Given the description of an element on the screen output the (x, y) to click on. 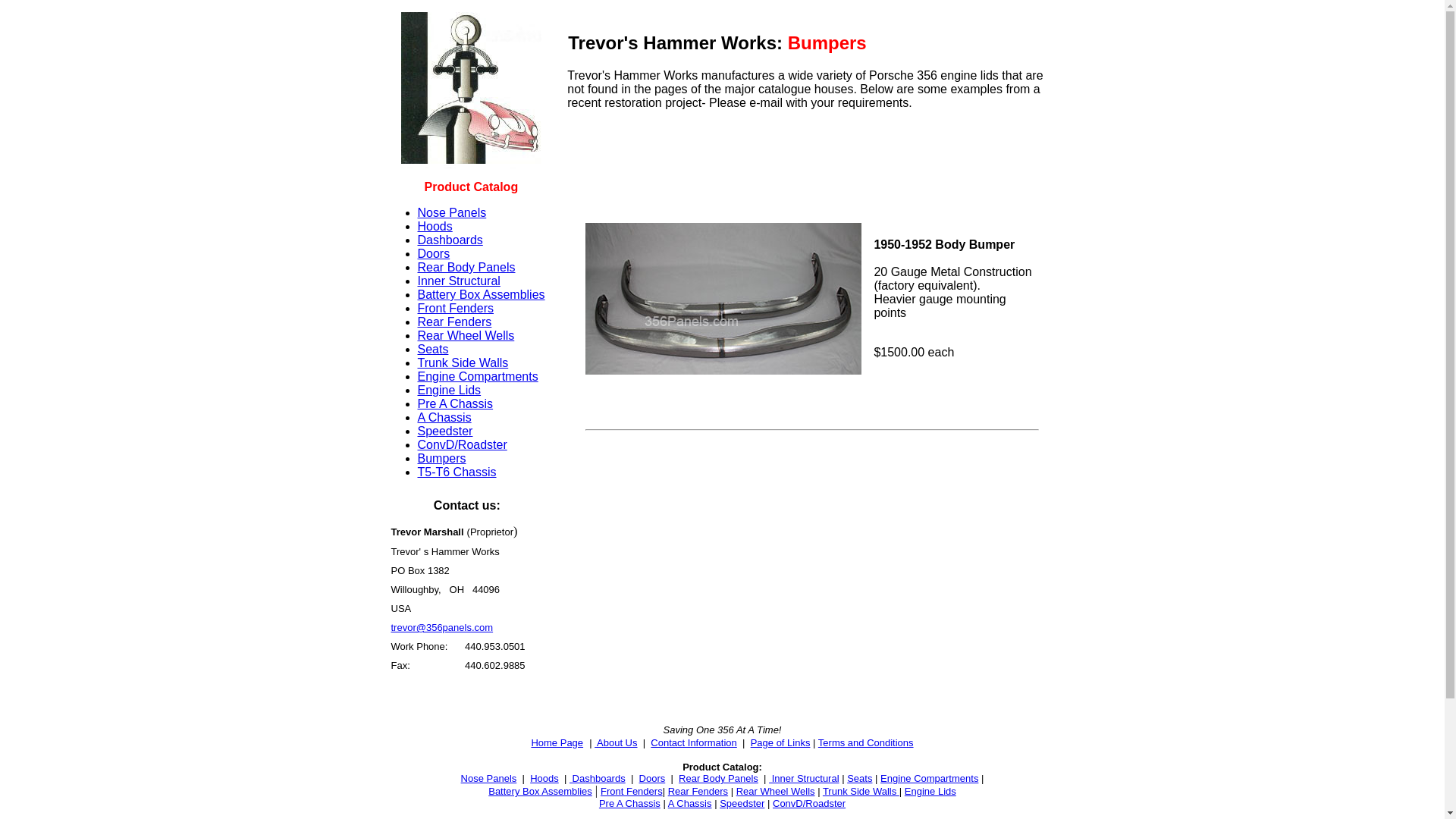
Trunk Side Walls Element type: text (860, 791)
Contact Information Element type: text (693, 742)
Pre A Chassis Element type: text (629, 803)
Engine Compartments Element type: text (477, 376)
Doors Element type: text (652, 778)
Dashboards Element type: text (449, 239)
Rear Body Panels Element type: text (465, 266)
Trunk Side Walls Element type: text (462, 362)
Seats Element type: text (432, 348)
Nose Panels Element type: text (489, 778)
A Chassis Element type: text (690, 803)
Terms and Conditions Element type: text (865, 742)
Home Page Element type: text (556, 741)
Bumpers Element type: text (441, 457)
Battery Box Assemblies Element type: text (540, 791)
Battery Box Assemblies Element type: text (480, 294)
Nose Panels Element type: text (451, 212)
Doors Element type: text (433, 253)
Rear Fenders Element type: text (698, 791)
Hoods Element type: text (544, 778)
Engine Compartments Element type: text (929, 778)
Page of Links Element type: text (780, 742)
T5-T6 Chassis Element type: text (456, 471)
Rear Wheel Wells Element type: text (465, 335)
Front Fenders Element type: text (454, 307)
Rear Fenders Element type: text (454, 321)
Speedster Element type: text (741, 803)
Seats Element type: text (859, 778)
Engine Lids Element type: text (930, 791)
Front Fenders Element type: text (631, 791)
trevor@356panels.com Element type: text (442, 627)
ConvD/Roadster Element type: text (808, 803)
Rear Body Panels Element type: text (718, 778)
Rear Wheel Wells Element type: text (775, 791)
Inner Structural Element type: text (458, 280)
Hoods Element type: text (434, 225)
ConvD/Roadster Element type: text (461, 444)
About Us Element type: text (615, 742)
Dashboards Element type: text (597, 778)
A Chassis Element type: text (443, 417)
Speedster Element type: text (444, 430)
Engine Lids Element type: text (448, 389)
Inner Structural Element type: text (803, 778)
Pre A Chassis Element type: text (454, 403)
